Given the description of an element on the screen output the (x, y) to click on. 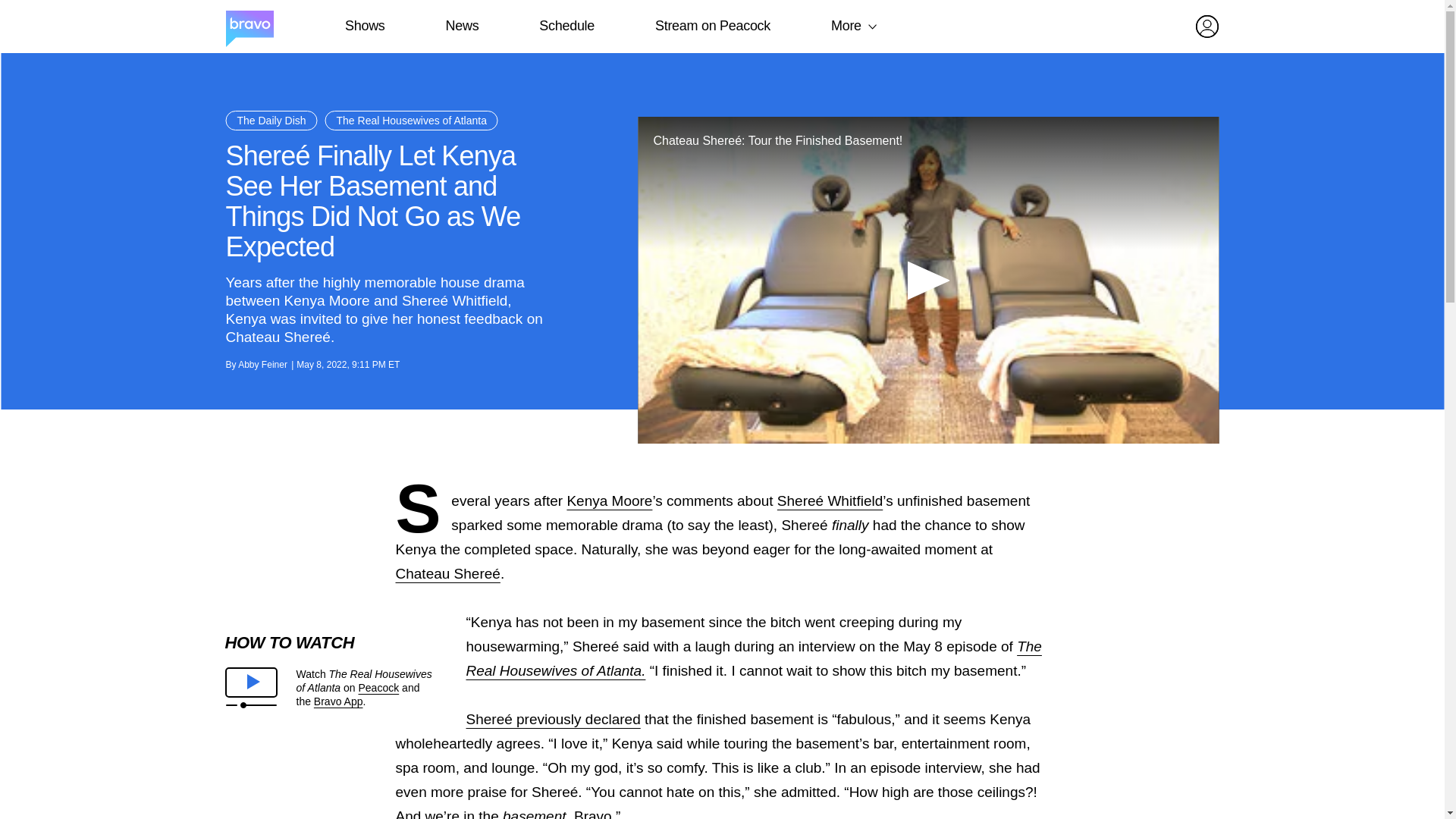
The Real Housewives of Atlanta (410, 120)
The Real Housewives of Atlanta (753, 658)
Stream on Peacock (712, 26)
Shows (363, 26)
Abby Feiner (262, 364)
News (462, 26)
Kenya Moore (609, 500)
More (846, 26)
Home (249, 26)
